Given the description of an element on the screen output the (x, y) to click on. 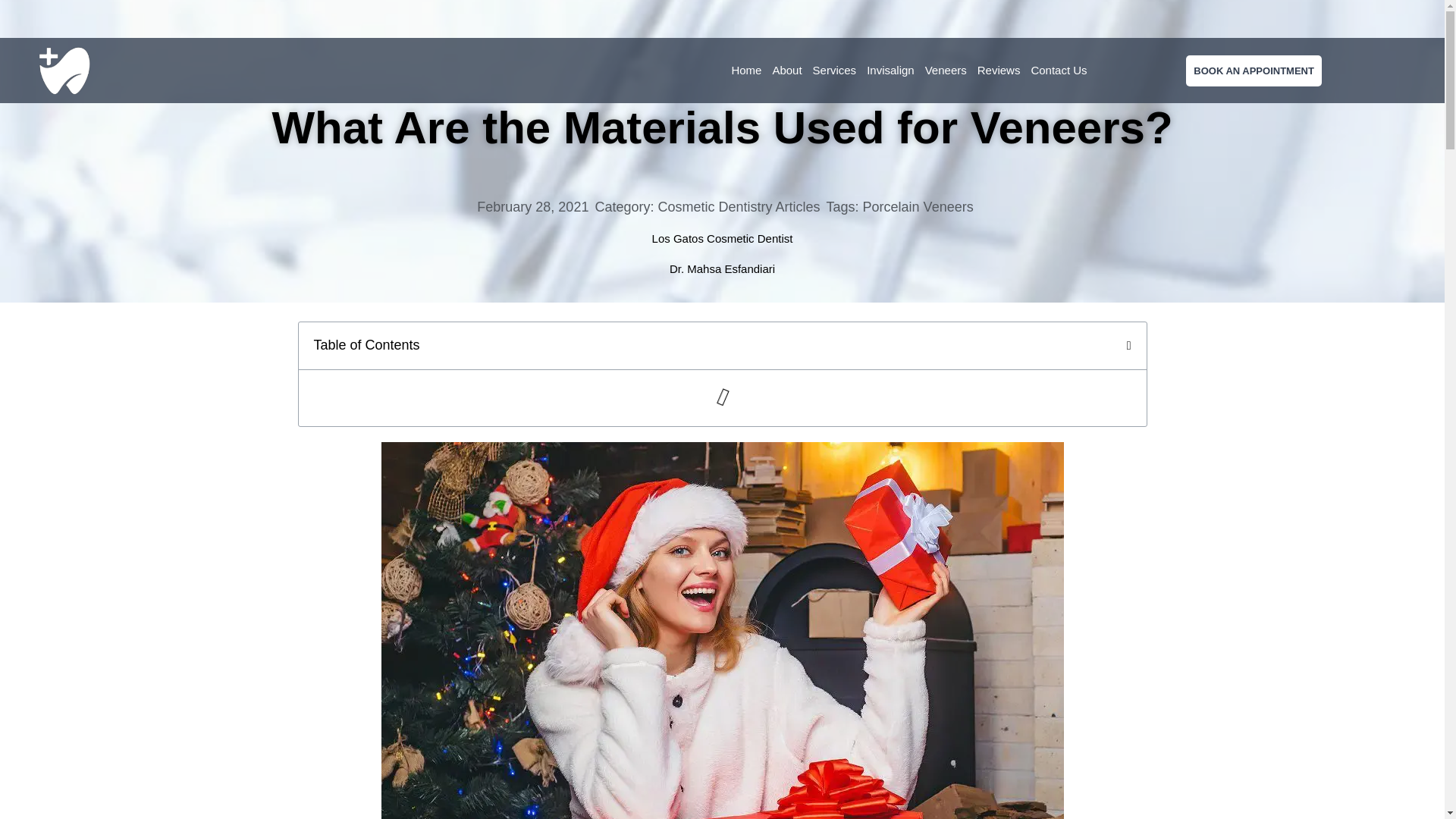
Google (1396, 19)
Twitter (1297, 19)
Yelp (1363, 19)
Location Map (446, 19)
Home (746, 70)
Facebook-f (1265, 19)
Instagram (1330, 19)
About (786, 70)
Services (834, 70)
